Given the description of an element on the screen output the (x, y) to click on. 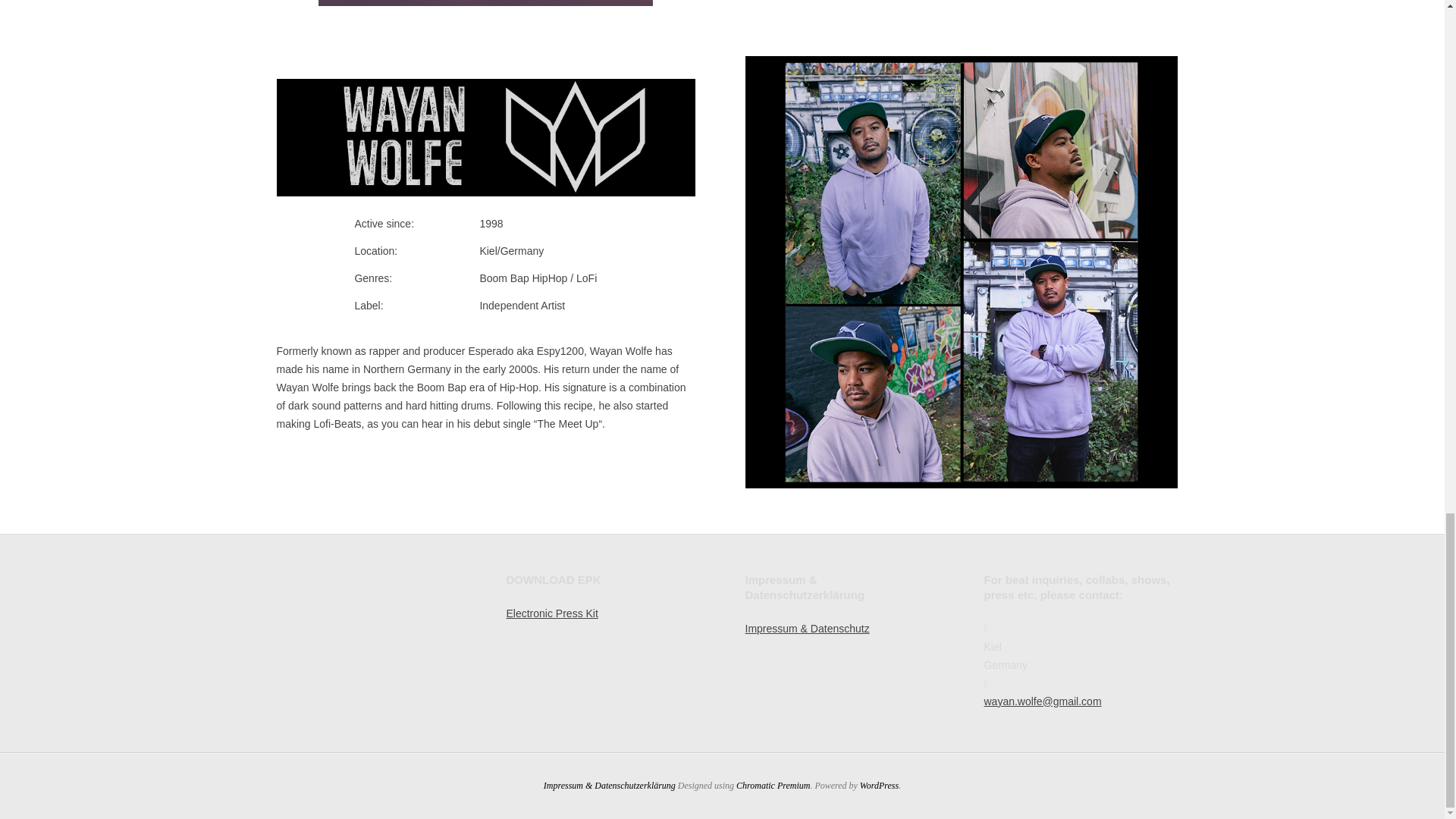
Electronic Press Kit (552, 613)
WordPress (879, 785)
State-of-the-art semantic personal publishing platform (879, 785)
Chromatic Premium WordPress Theme (772, 785)
Chromatic Premium (772, 785)
